Given the description of an element on the screen output the (x, y) to click on. 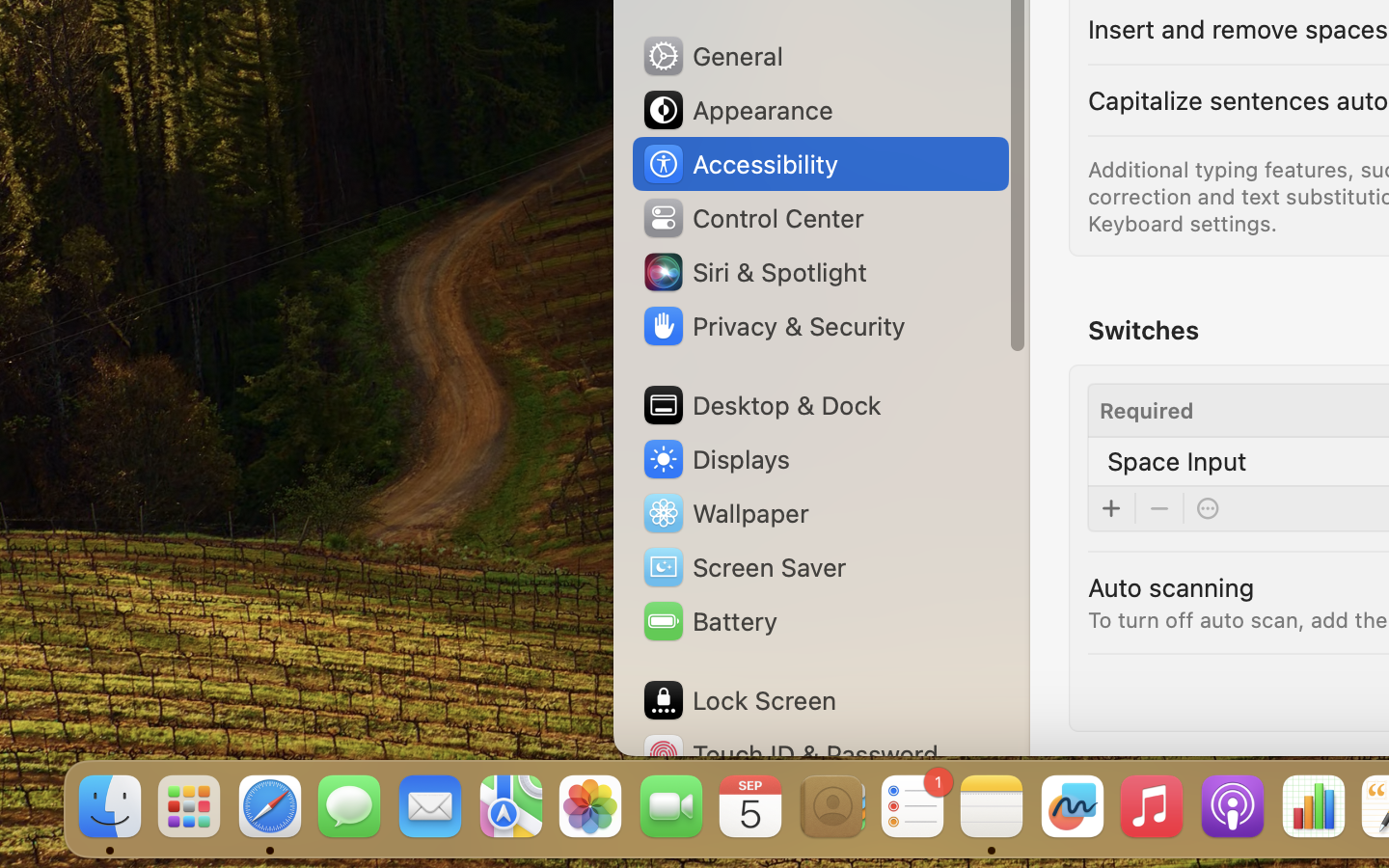
Privacy & Security Element type: AXStaticText (772, 325)
